Given the description of an element on the screen output the (x, y) to click on. 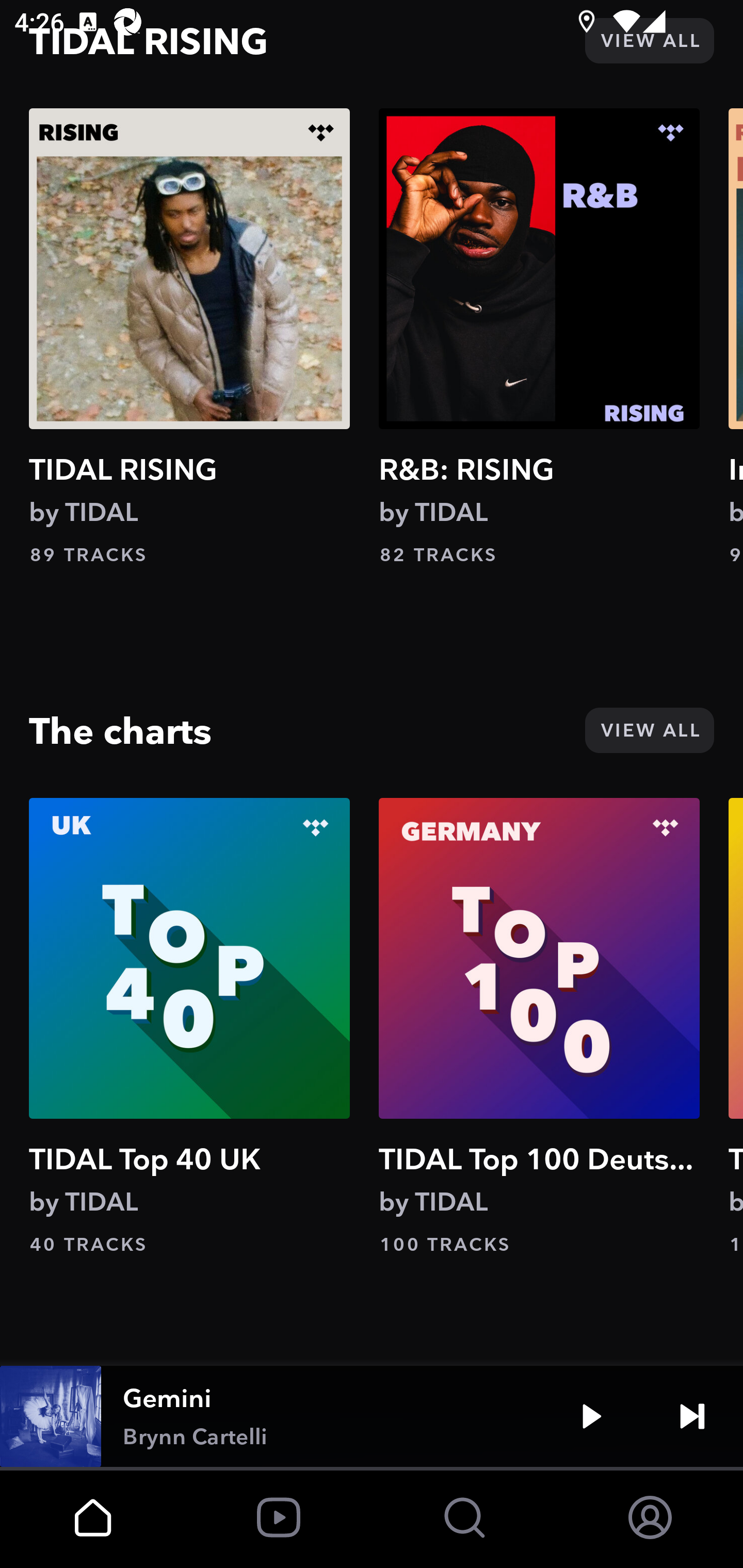
VIEW ALL (649, 40)
TIDAL RISING by TIDAL 89 TRACKS (188, 337)
R&B: RISING by TIDAL 82 TRACKS (538, 337)
VIEW ALL (649, 729)
TIDAL Top 40 UK by TIDAL 40 TRACKS (188, 1026)
TIDAL Top 100 Deutschland by TIDAL 100 TRACKS (538, 1026)
Gemini Brynn Cartelli Play (371, 1416)
Play (590, 1416)
